Given the description of an element on the screen output the (x, y) to click on. 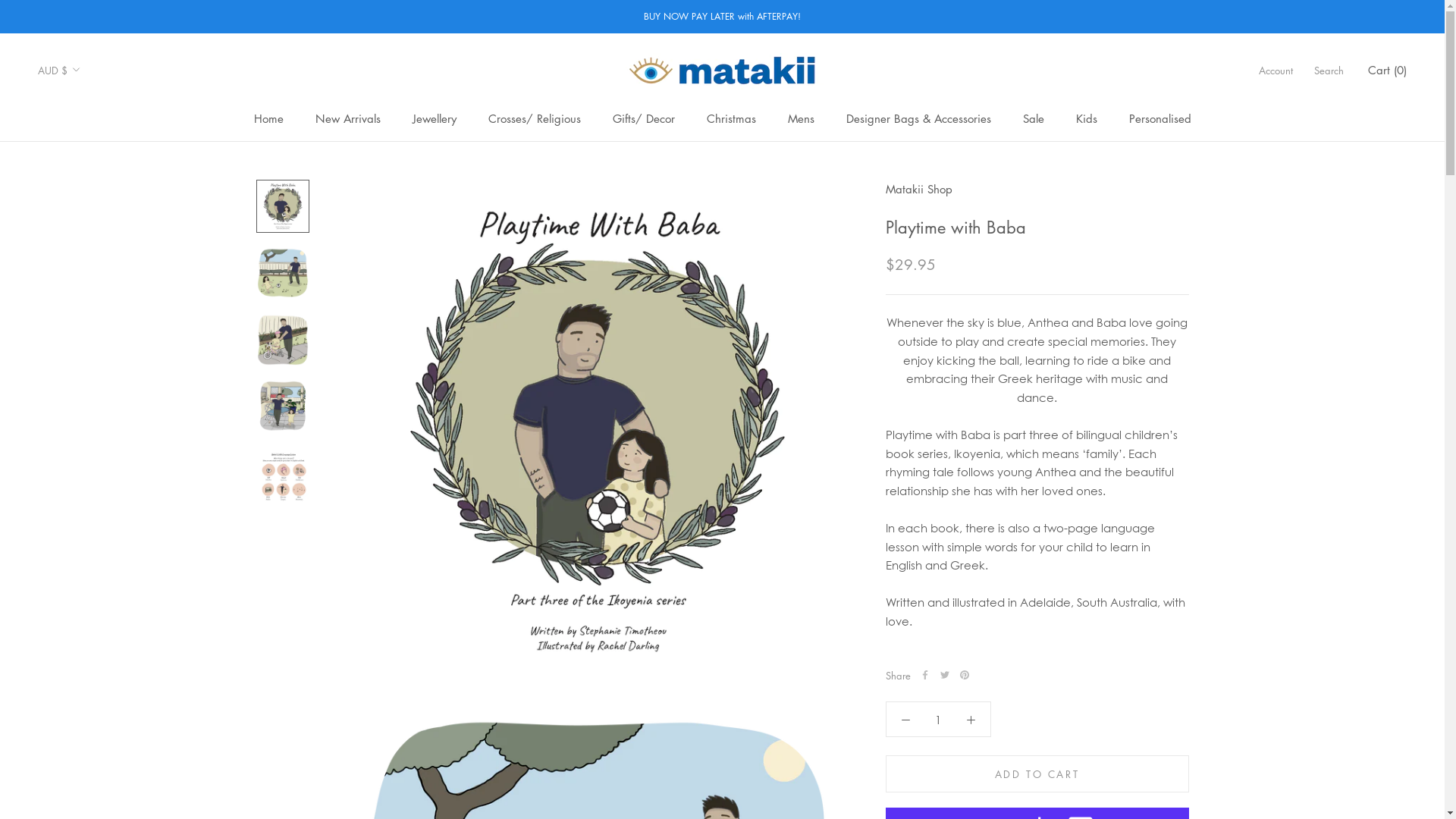
CZK Element type: text (83, 677)
Crosses/ Religious
Crosses/ Religious Element type: text (534, 117)
Kids
Kids Element type: text (1085, 117)
DOP Element type: text (83, 748)
BAM Element type: text (83, 295)
Designer Bags & Accessories
Designer Bags & Accessories Element type: text (918, 117)
CNY Element type: text (83, 605)
Account Element type: text (1275, 70)
BND Element type: text (83, 414)
ADD TO CART Element type: text (1037, 773)
ANG Element type: text (83, 200)
CAD Element type: text (83, 534)
AFN Element type: text (83, 128)
DZD Element type: text (83, 772)
AWG Element type: text (83, 248)
New Arrivals
New Arrivals Element type: text (347, 117)
BBD Element type: text (83, 319)
CRC Element type: text (83, 629)
CDF Element type: text (83, 557)
Home
Home Element type: text (267, 117)
BWP Element type: text (83, 486)
AZN Element type: text (83, 271)
ALL Element type: text (83, 152)
Gifts/ Decor Element type: text (643, 117)
BGN Element type: text (83, 367)
BSD Element type: text (83, 462)
DJF Element type: text (83, 700)
EGP Element type: text (83, 796)
Christmas
Christmas Element type: text (731, 117)
Search Element type: text (1328, 70)
Personalised
Personalised Element type: text (1159, 117)
AUD Element type: text (83, 223)
Jewellery Element type: text (434, 117)
AMD Element type: text (83, 176)
BDT Element type: text (83, 342)
Mens
Mens Element type: text (800, 117)
AED Element type: text (83, 104)
BOB Element type: text (83, 438)
Sale
Sale Element type: text (1032, 117)
BIF Element type: text (83, 390)
BZD Element type: text (83, 509)
DKK Element type: text (83, 724)
Cart (0) Element type: text (1387, 69)
AUD $ Element type: text (59, 69)
CHF Element type: text (83, 581)
CVE Element type: text (83, 653)
